Given the description of an element on the screen output the (x, y) to click on. 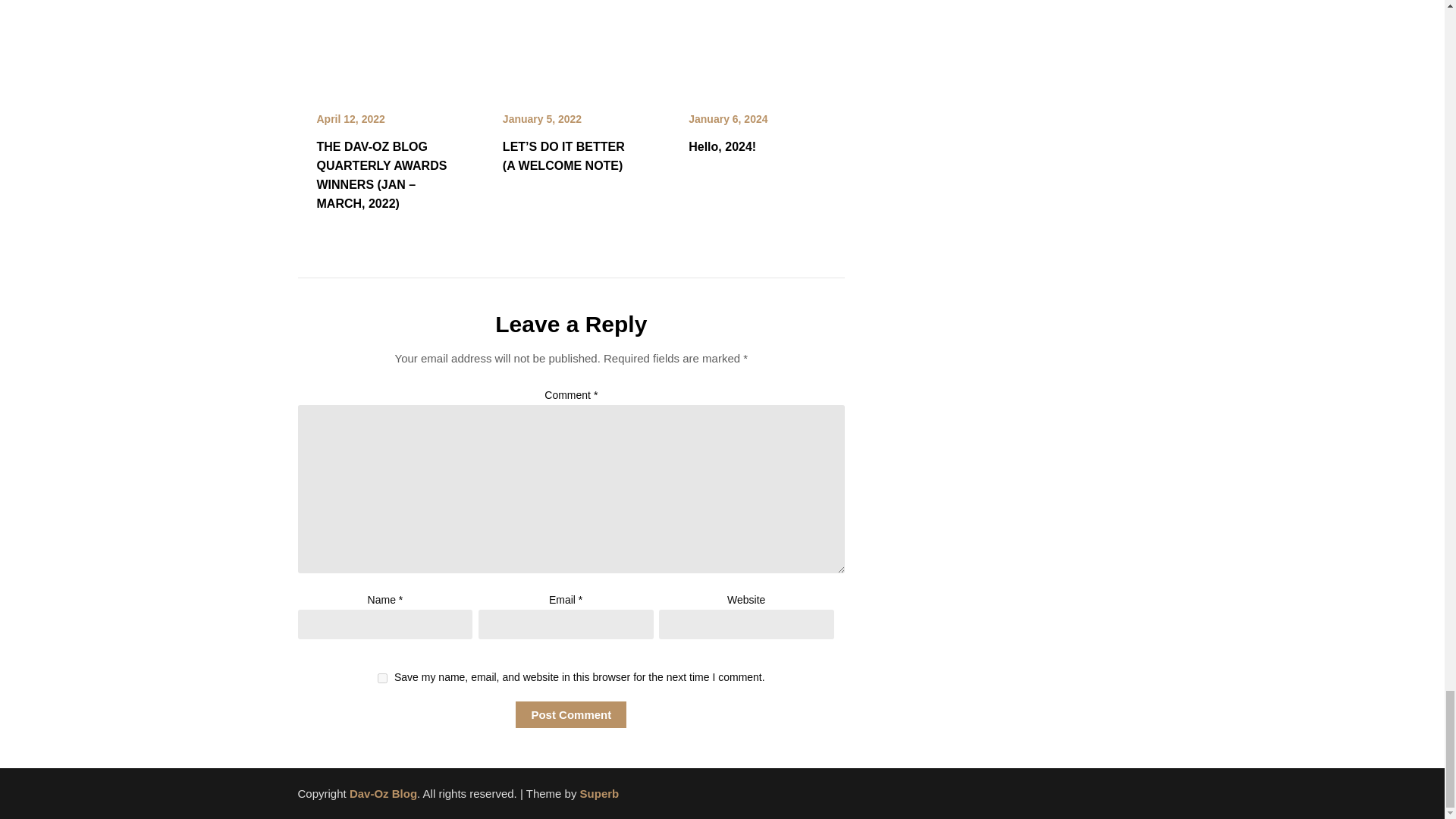
Hello, 2024! (756, 8)
Post Comment (570, 714)
yes (382, 678)
